Given the description of an element on the screen output the (x, y) to click on. 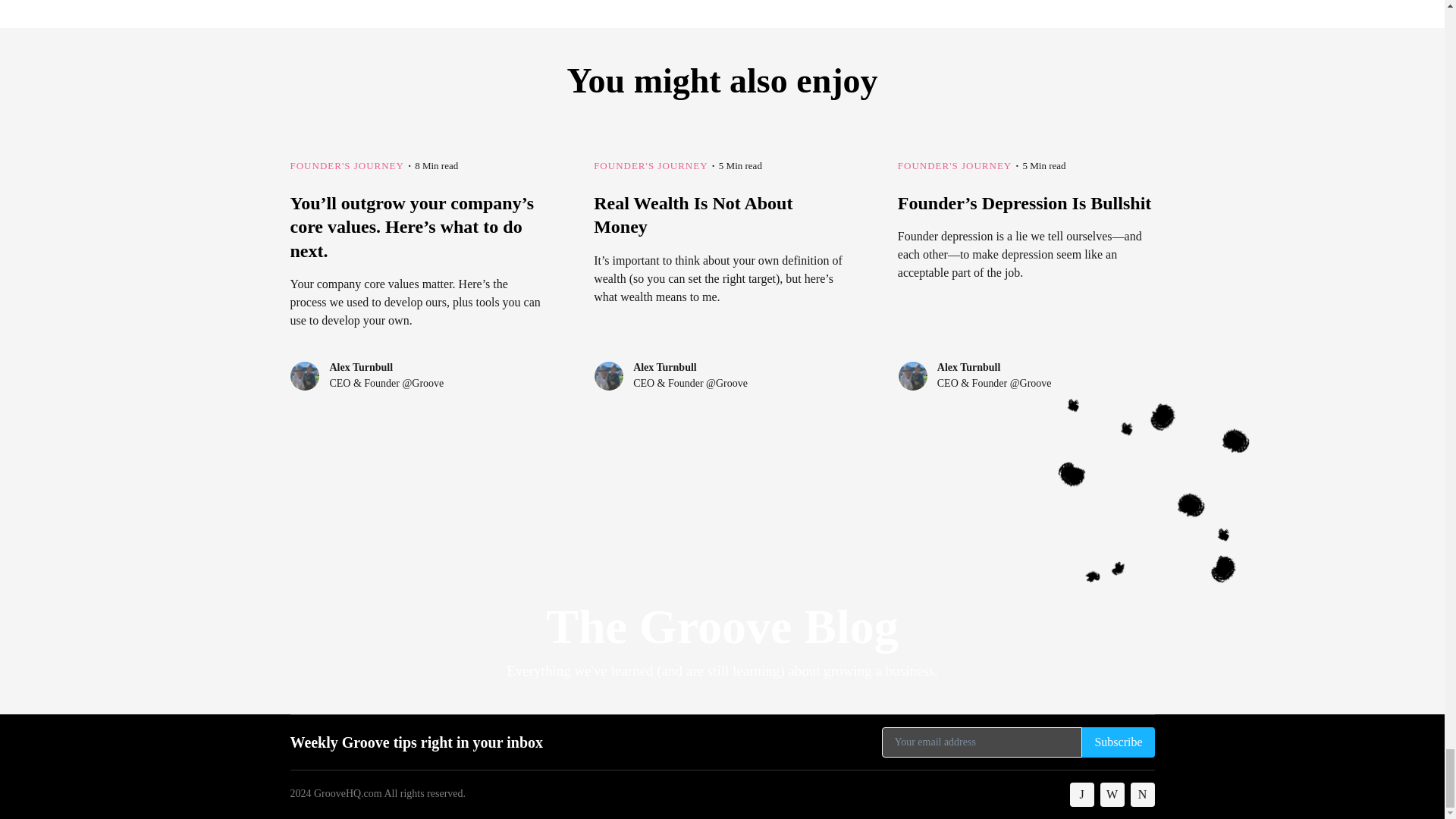
Real Wealth Is Not About Money (721, 275)
Subscribe (1117, 742)
Facebook (1082, 794)
